Given the description of an element on the screen output the (x, y) to click on. 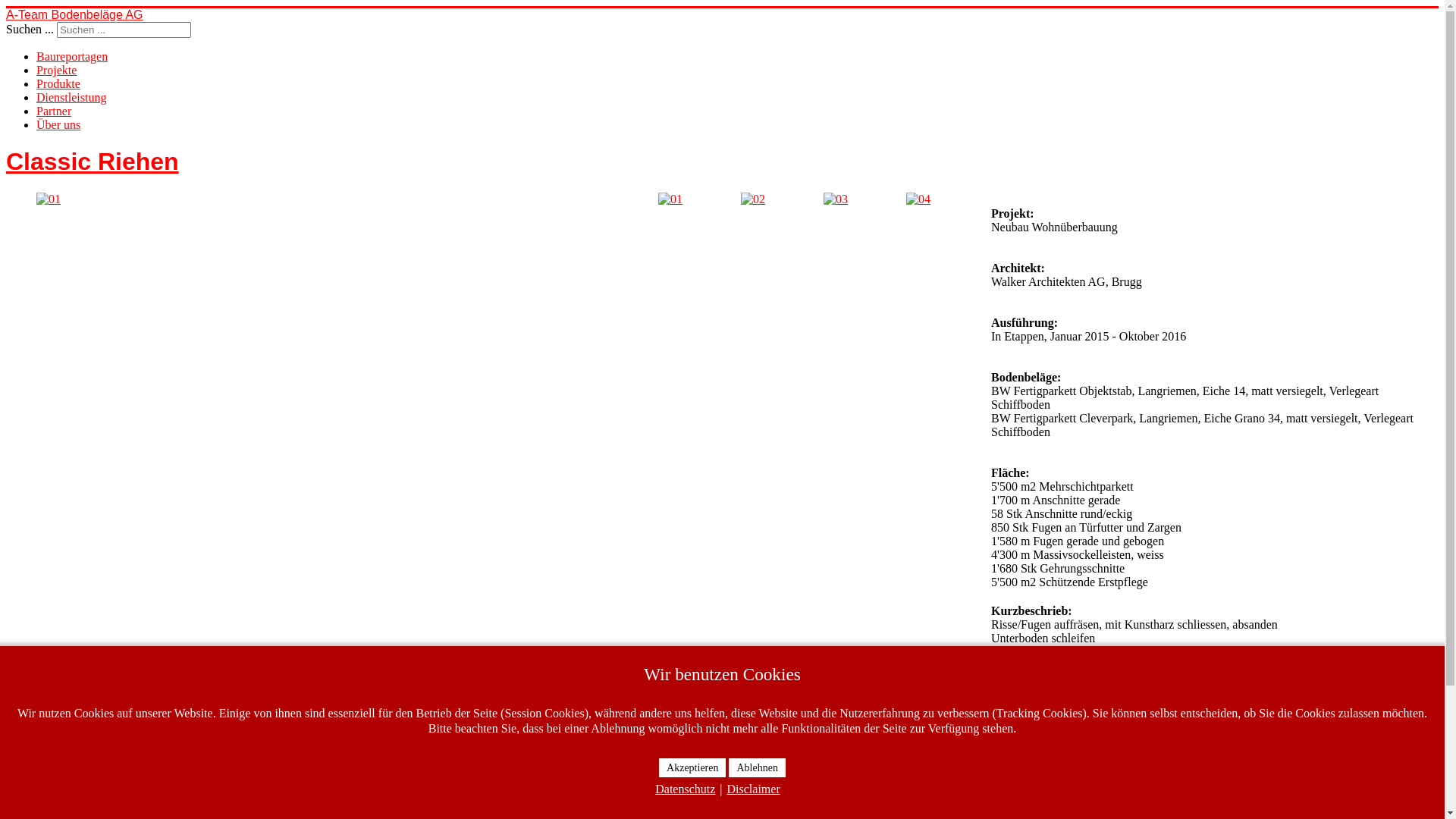
Dienstleistung Element type: text (71, 97)
<strong><em>01</em></strong> Element type: hover (48, 198)
Neubau Element type: text (85, 800)
Partner Element type: text (53, 110)
Mehrfamilienhaus Element type: text (80, 773)
02 Element type: hover (752, 199)
03 Element type: hover (835, 199)
01 Element type: hover (670, 199)
Akzeptieren Element type: text (691, 767)
Ablehnen Element type: text (756, 767)
01 Element type: hover (48, 199)
Datenschutz Element type: text (685, 789)
04 Element type: hover (918, 199)
Produkte Element type: text (58, 83)
Classic Riehen Element type: text (92, 161)
<strong><em>04</em></strong> Element type: hover (918, 198)
Liegenschaftsverwaltung Element type: text (127, 787)
Disclaimer Element type: text (753, 789)
Projekte Element type: text (56, 69)
Einfamilienhaus Element type: text (76, 759)
<strong><em>01</em></strong> Element type: hover (670, 198)
<strong><em>03</em></strong> Element type: hover (835, 198)
<strong><em>02</em></strong> Element type: hover (752, 198)
Baureportagen Element type: text (71, 56)
